Given the description of an element on the screen output the (x, y) to click on. 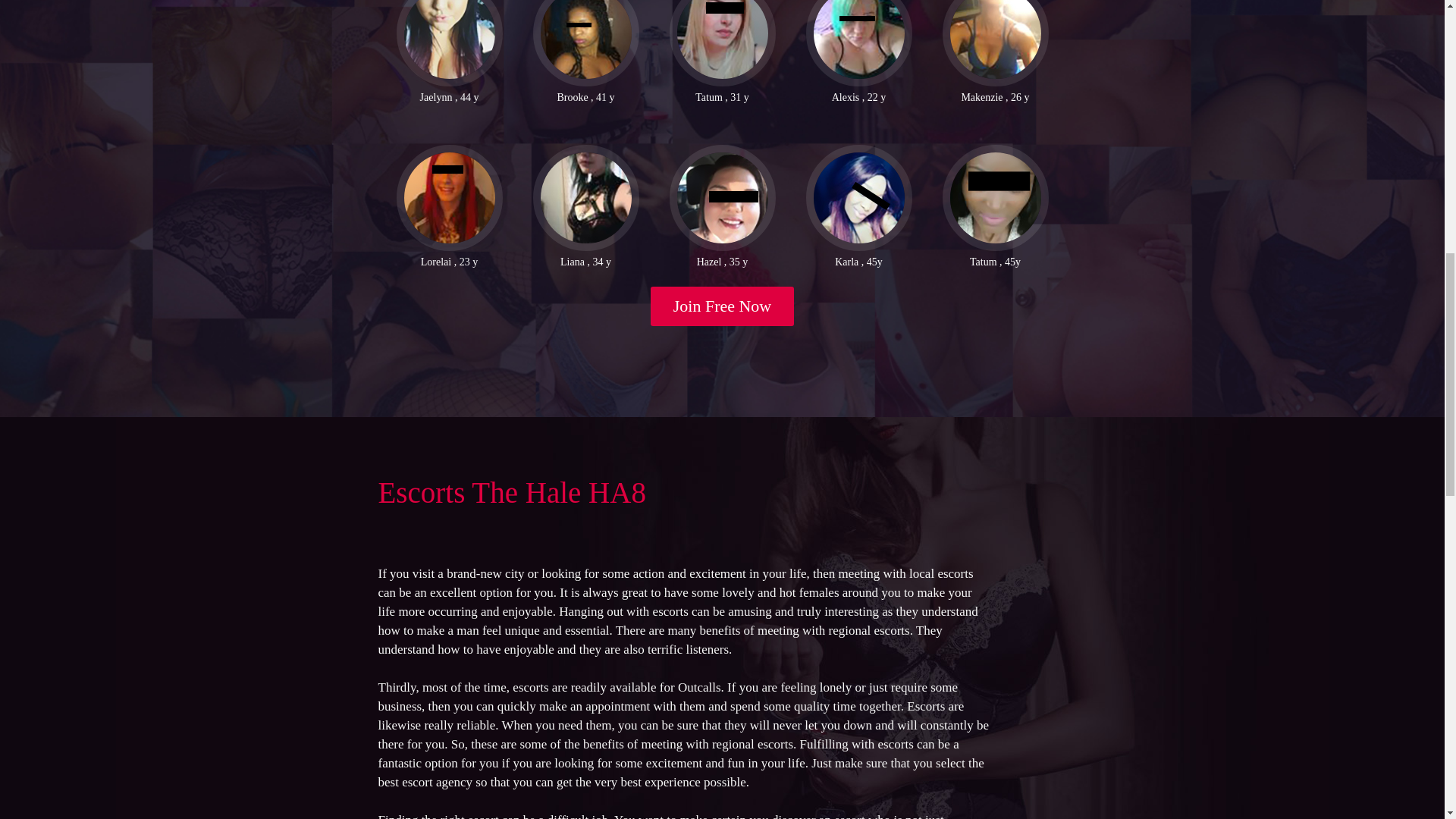
Escorts The Hale HA8 (511, 491)
Join Free Now (722, 305)
Join (722, 305)
